Given the description of an element on the screen output the (x, y) to click on. 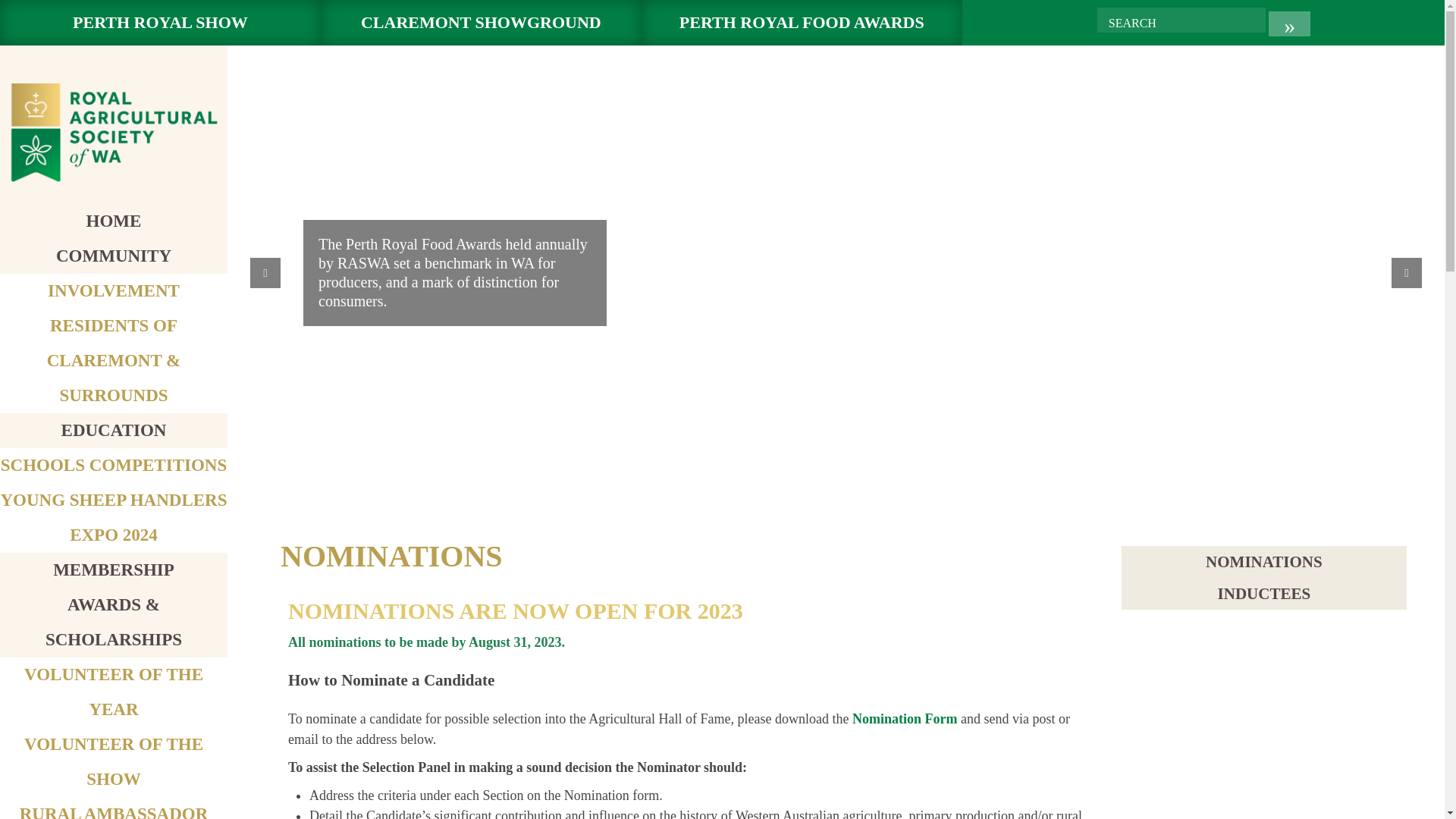
PERTH ROYAL FOOD AWARDS (802, 22)
HOME (113, 220)
VOLUNTEER OF THE YEAR (113, 692)
INVOLVEMENT (113, 290)
EDUCATION (114, 429)
YOUNG SHEEP HANDLERS EXPO 2024 (113, 517)
SCHOOLS COMPETITIONS (114, 465)
CLAREMONT SHOWGROUND (481, 22)
VOLUNTEER OF THE SHOW (113, 761)
COMMUNITY (113, 255)
PERTH ROYAL SHOW (160, 22)
RURAL AMBASSADOR (114, 811)
MEMBERSHIP (113, 569)
